Given the description of an element on the screen output the (x, y) to click on. 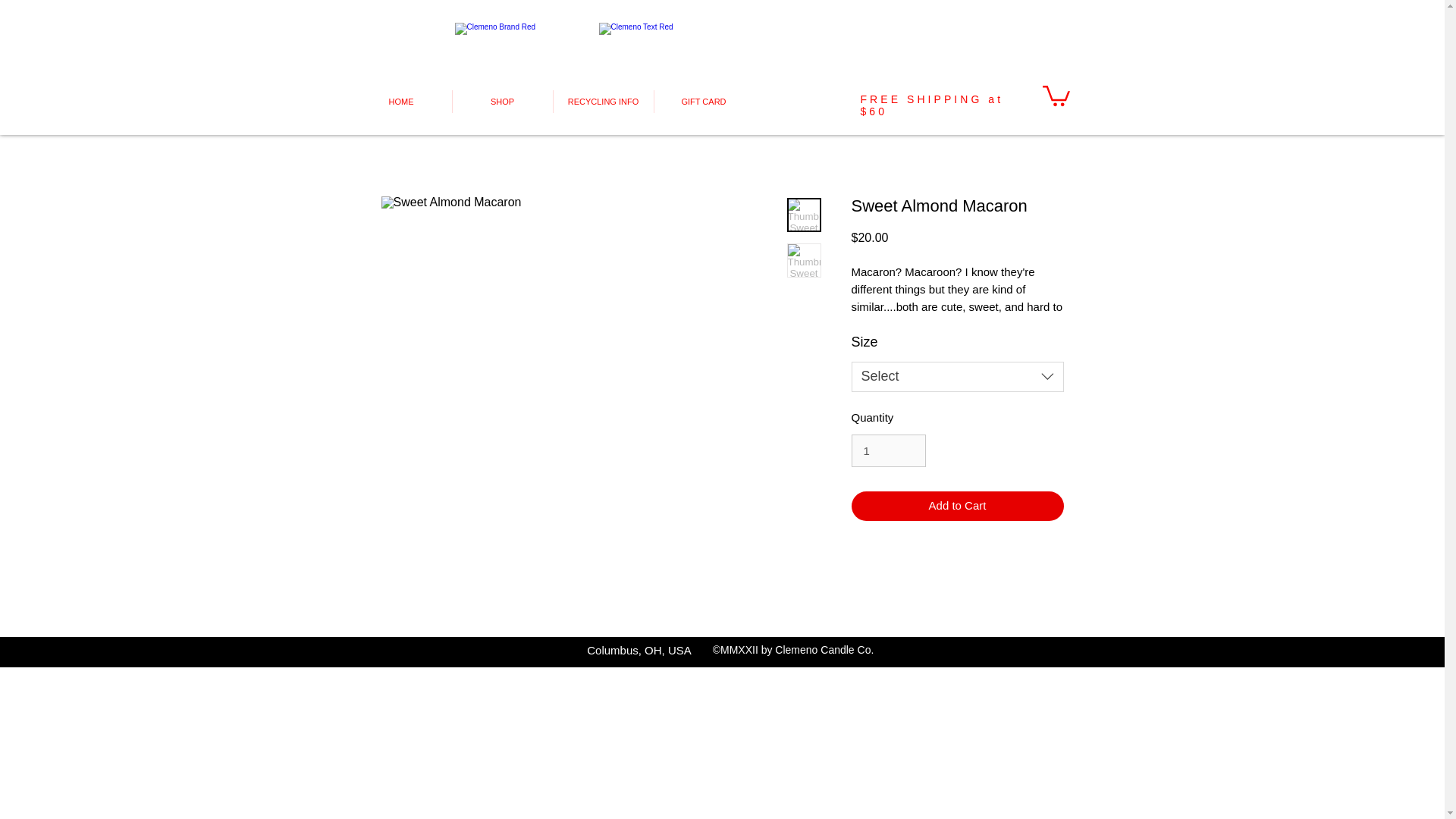
Select (956, 376)
GIFT CARD (703, 101)
HOME (400, 101)
RECYCLING INFO (601, 101)
Add to Cart (956, 505)
aura-toplogo.jpg (497, 52)
1 (887, 450)
